Given the description of an element on the screen output the (x, y) to click on. 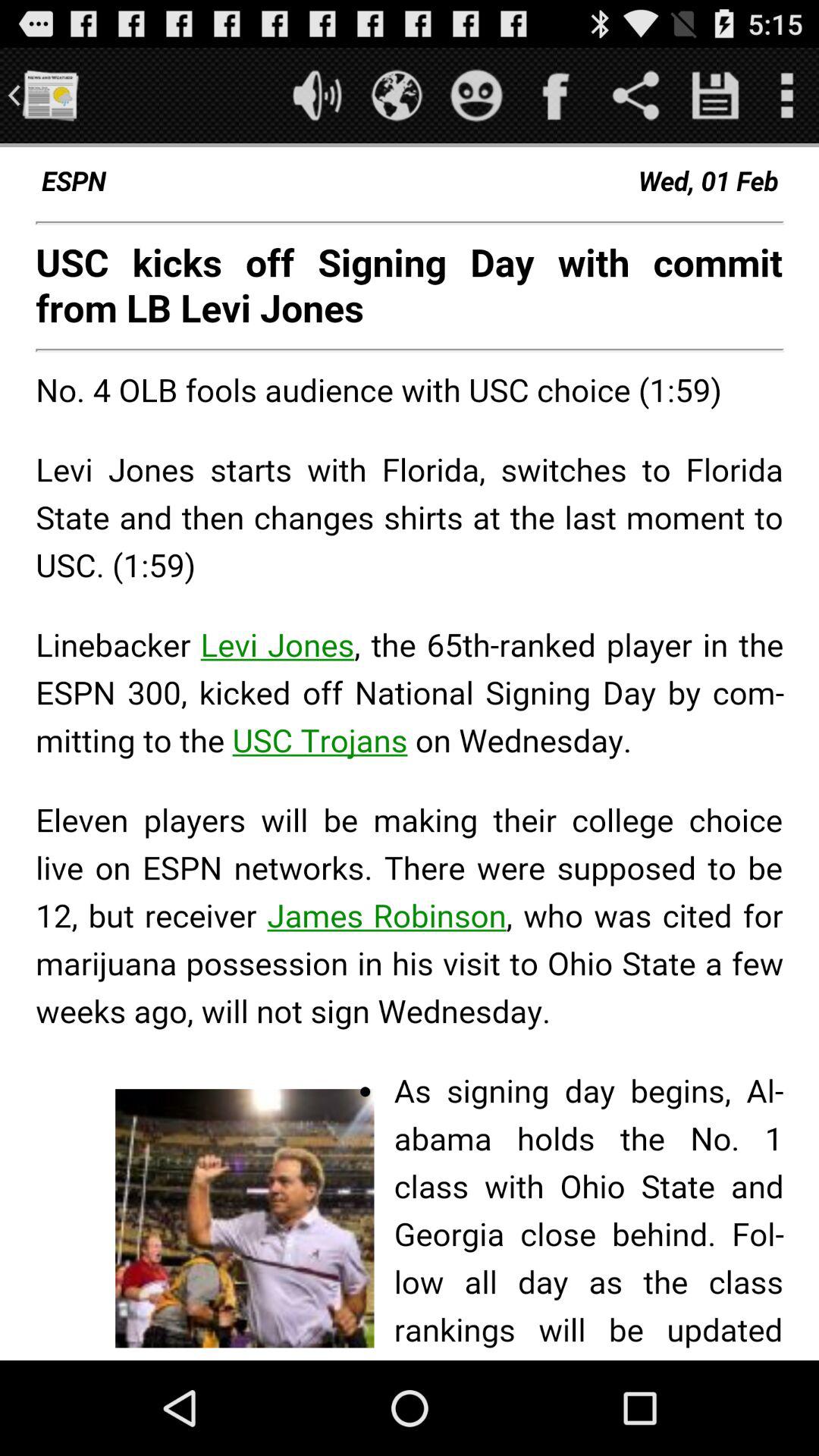
save it (715, 95)
